Given the description of an element on the screen output the (x, y) to click on. 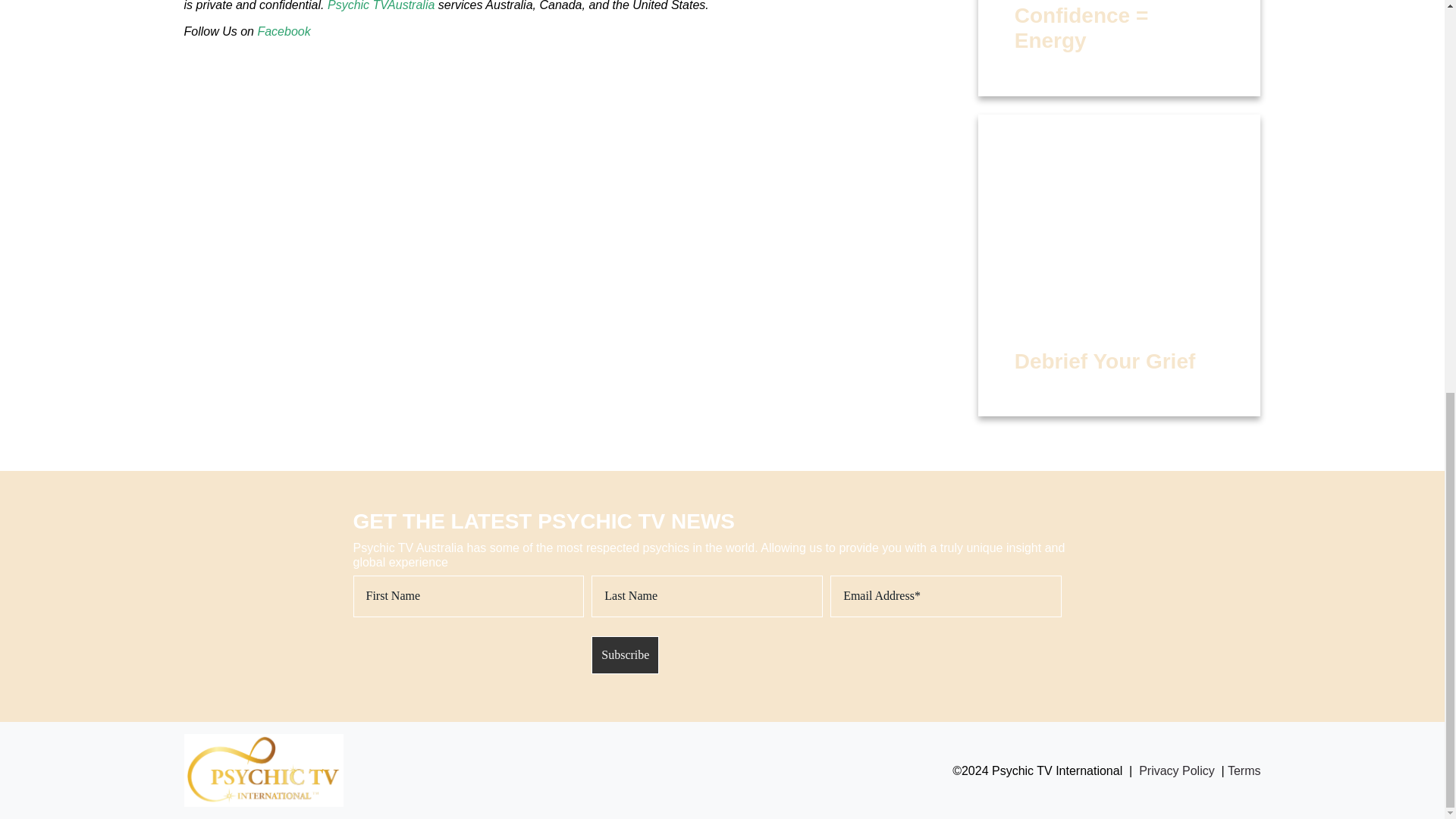
Subscribe (625, 655)
